Given the description of an element on the screen output the (x, y) to click on. 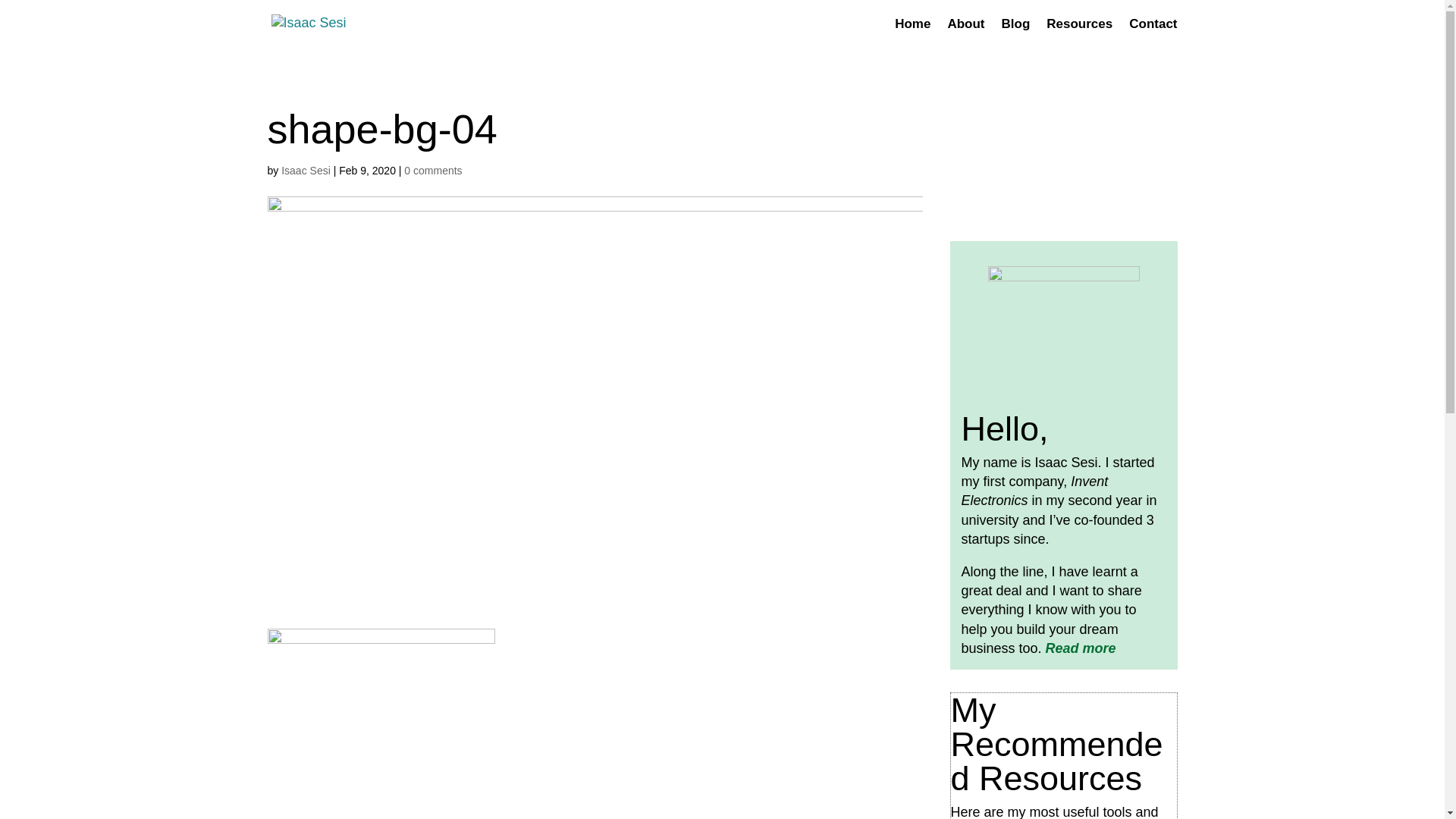
Posts by Isaac Sesi (305, 170)
Resources (1079, 33)
About (965, 33)
0 comments (432, 170)
Contact (1152, 33)
Home (912, 33)
Isaac Sesi (305, 170)
Blog (1015, 33)
Read more  (1082, 648)
